Given the description of an element on the screen output the (x, y) to click on. 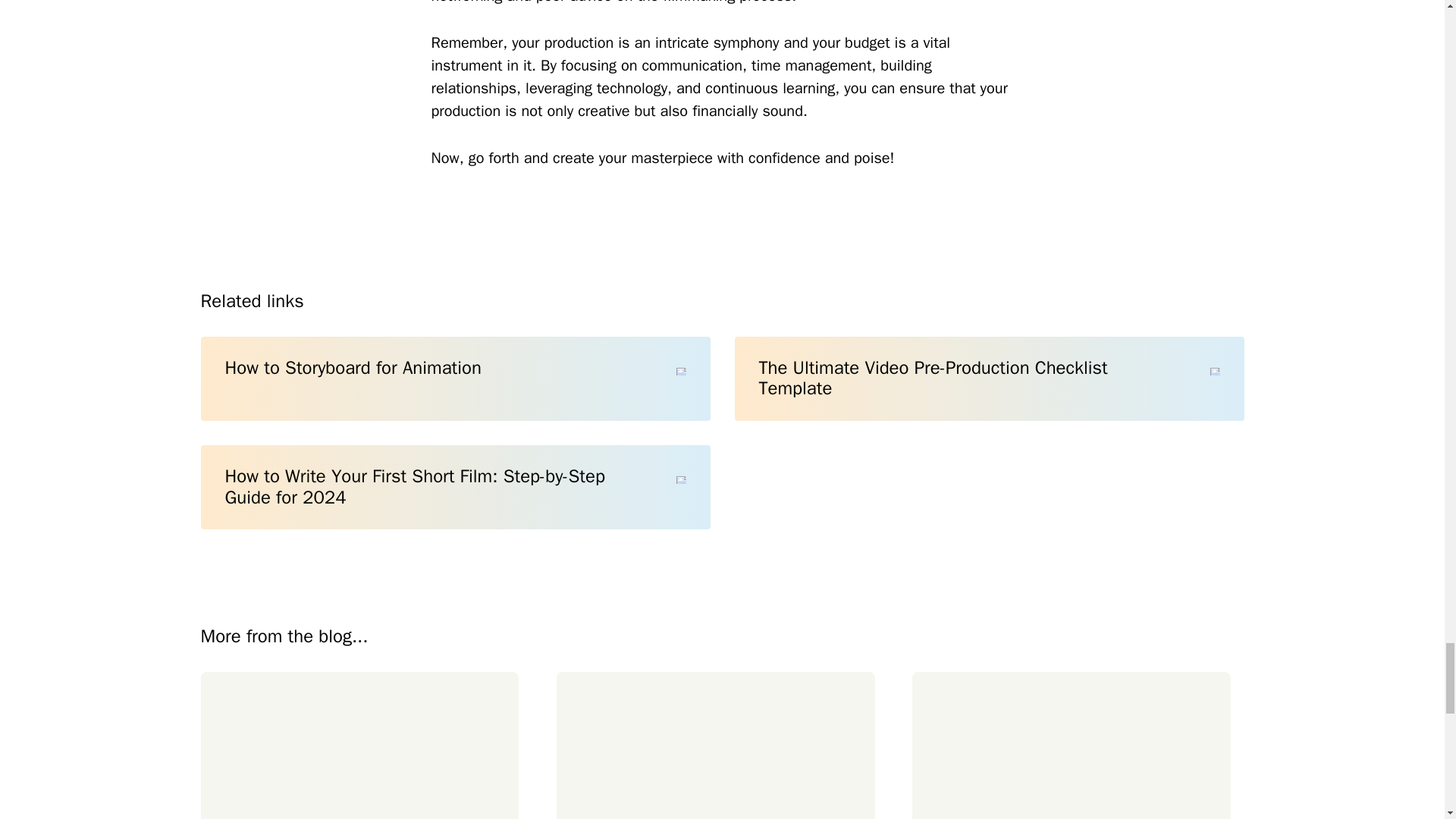
The Ultimate Video Pre-Production Checklist Template (988, 378)
How to Storyboard for Animation (455, 378)
